Given the description of an element on the screen output the (x, y) to click on. 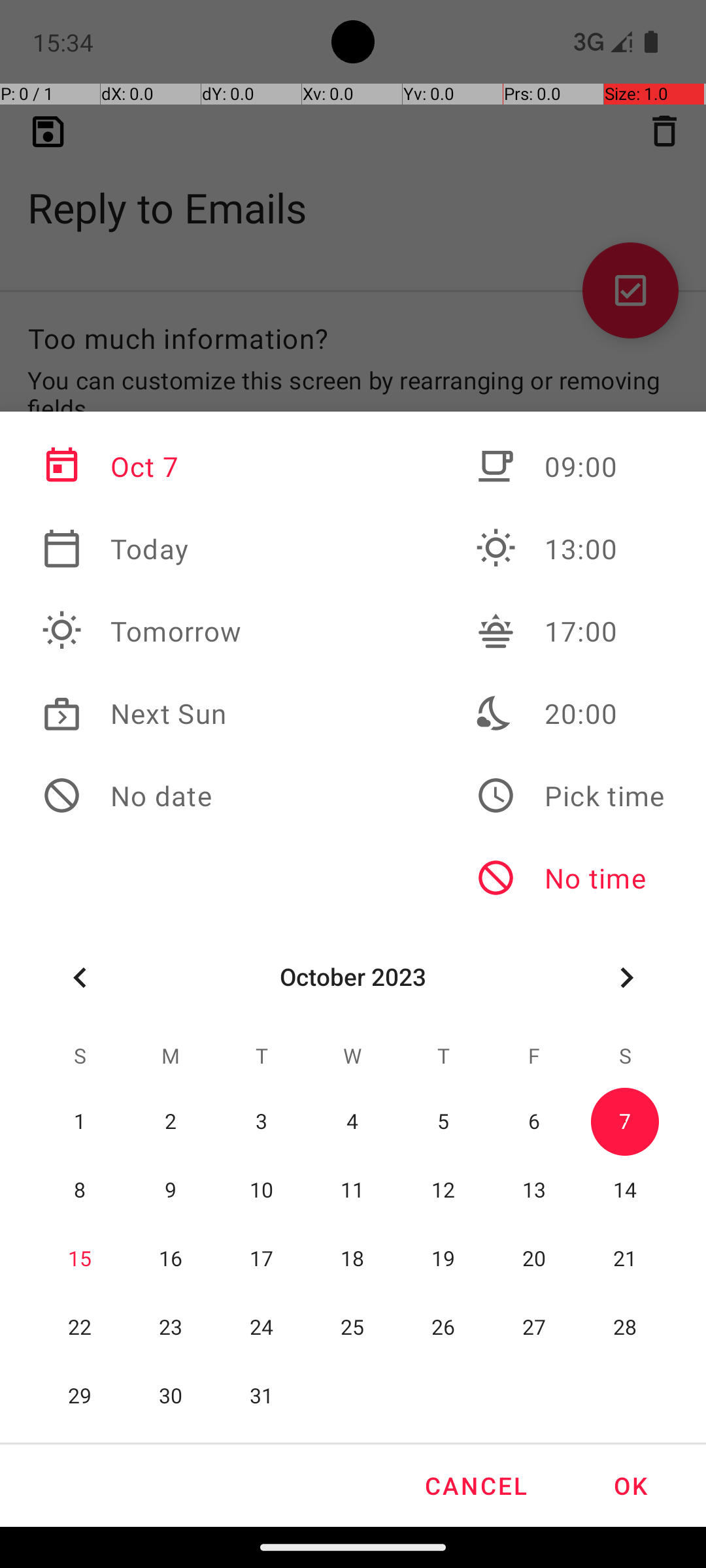
Oct 7 Element type: android.widget.CompoundButton (141, 466)
